Given the description of an element on the screen output the (x, y) to click on. 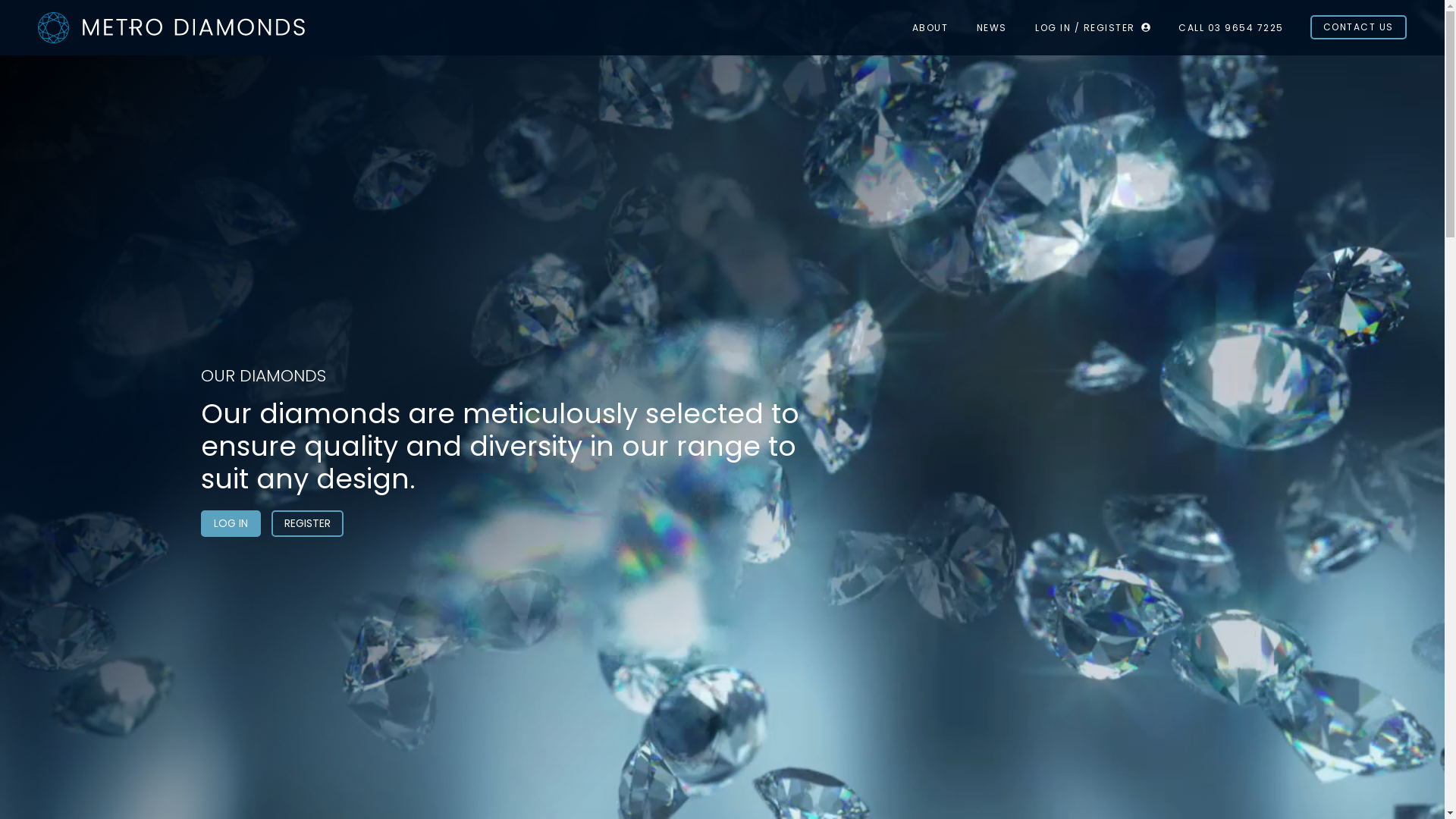
NEWS Element type: text (991, 27)
LOG IN Element type: text (231, 522)
ABOUT Element type: text (930, 27)
REGISTER Element type: text (303, 522)
CONTACT US Element type: text (1358, 27)
CALL 03 9654 7225 Element type: text (1230, 27)
LOG IN / REGISTER Element type: text (1092, 27)
